Given the description of an element on the screen output the (x, y) to click on. 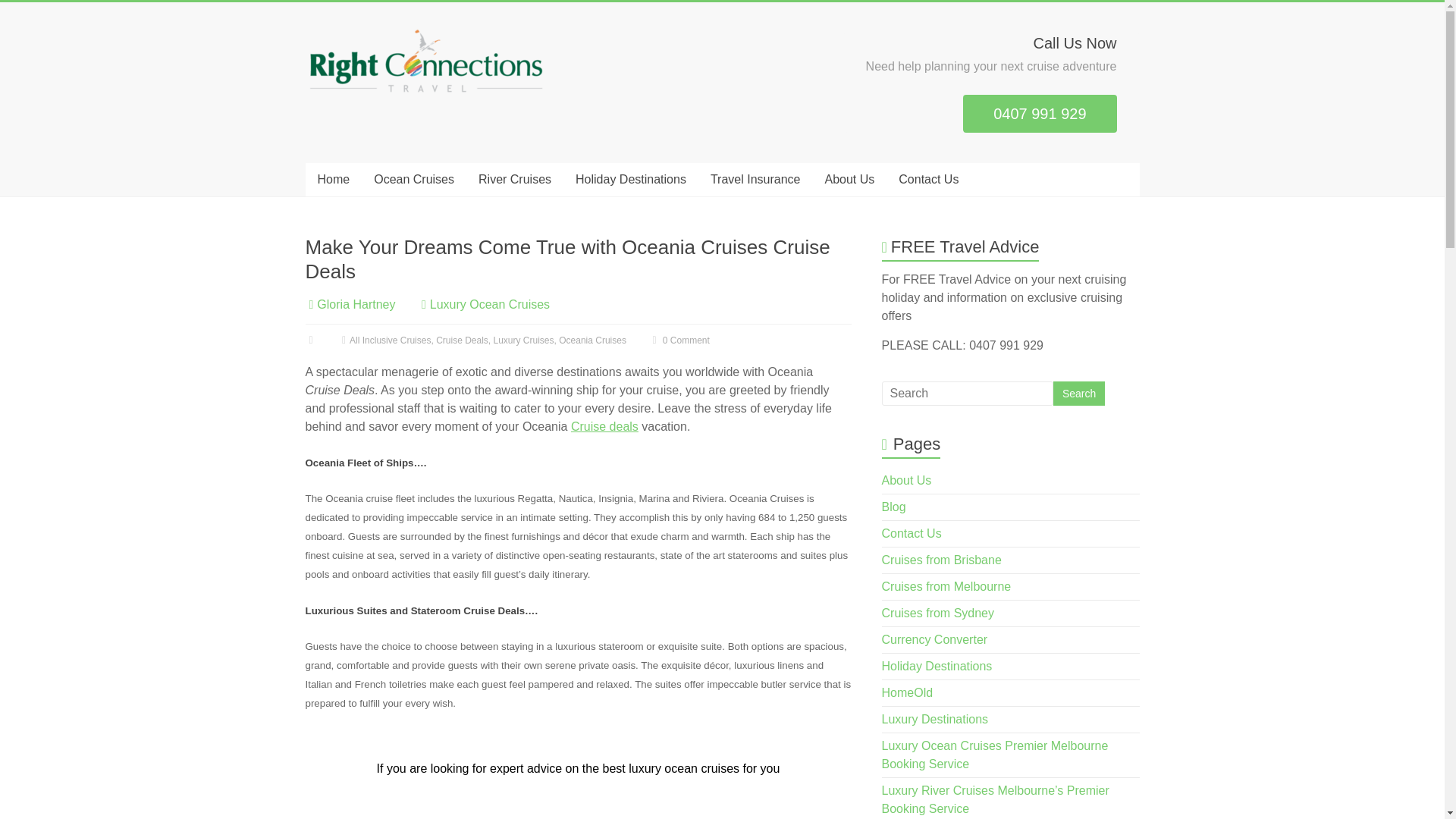
Search (1078, 393)
0407 991 929 (1039, 113)
About Us (906, 480)
Cruises from Brisbane (941, 559)
Luxury Ocean Cruises Premier Melbourne Booking Service (995, 754)
Cruises from Melbourne (946, 585)
Oceania Cruises (592, 339)
HomeOld (907, 692)
Cruise Deals (461, 339)
Gloria Hartney (355, 304)
